Given the description of an element on the screen output the (x, y) to click on. 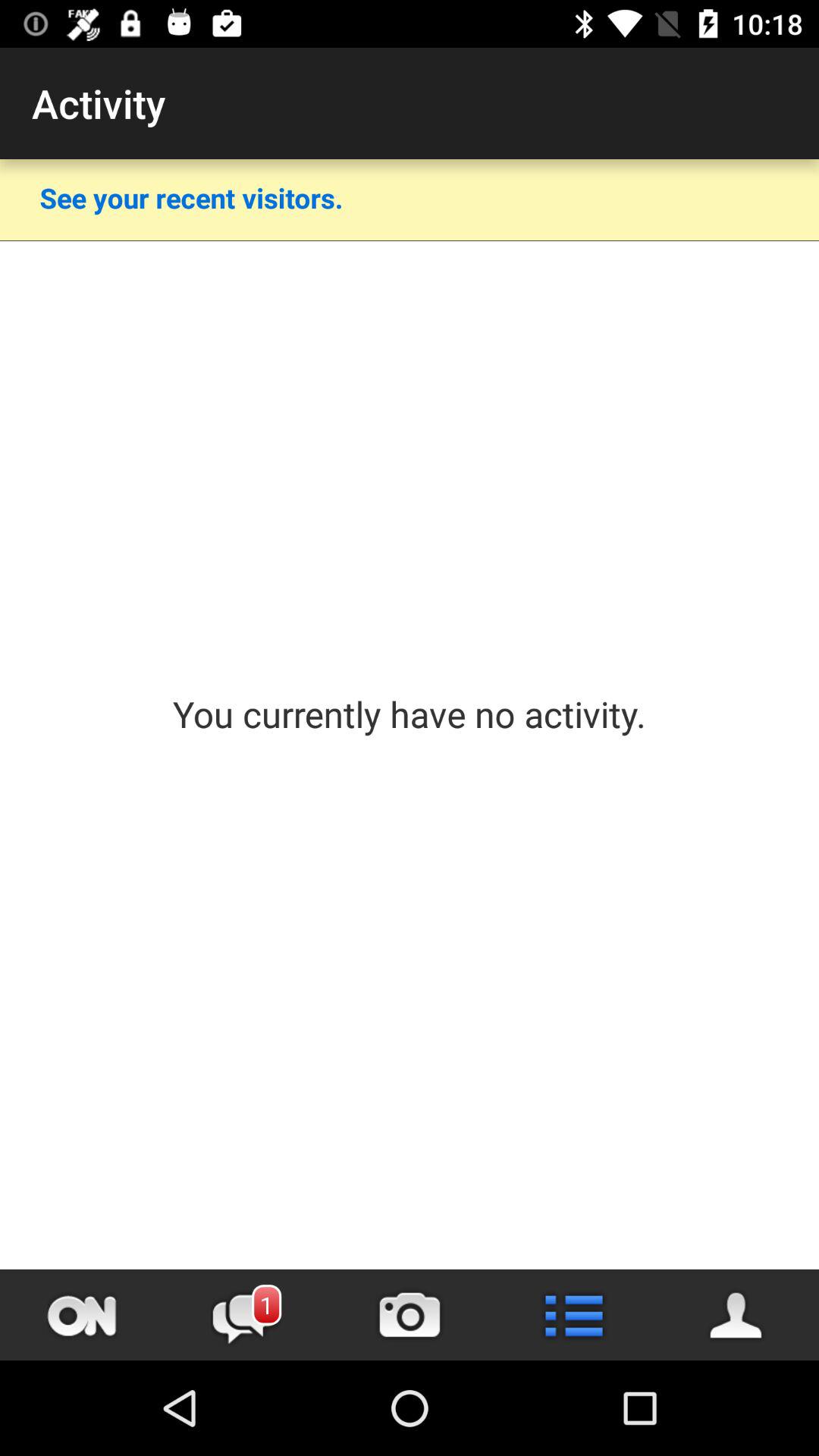
switch messages option (245, 1315)
